Given the description of an element on the screen output the (x, y) to click on. 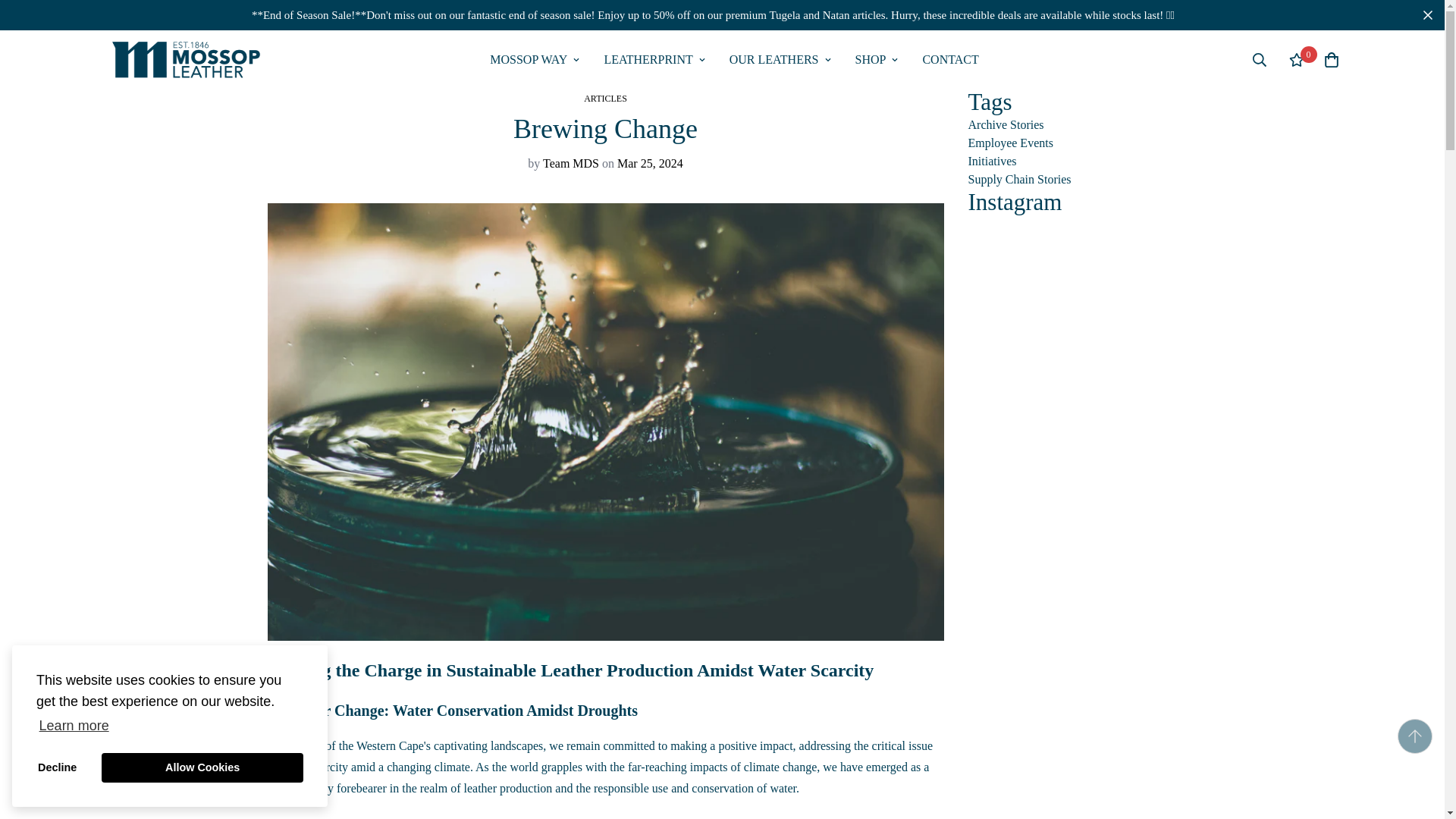
CONTACT (950, 59)
Learn more (74, 724)
Show articles tagged Archive Stories (1005, 124)
OUR LEATHERS (733, 59)
Allow Cookies (780, 59)
Show articles tagged Initiatives (201, 767)
Decline (992, 160)
Show articles tagged Supply Chain Stories (57, 767)
Show articles tagged Employee Events (1019, 178)
SHOP (1010, 142)
LEATHERPRINT (877, 59)
mossop (653, 59)
MOSSOP WAY (733, 59)
